Given the description of an element on the screen output the (x, y) to click on. 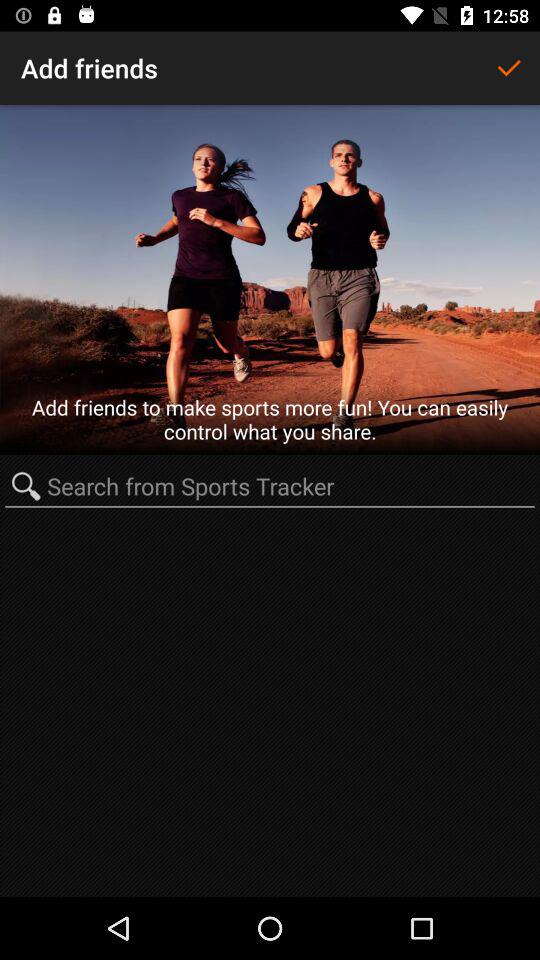
click item to the right of the add friends (508, 67)
